Given the description of an element on the screen output the (x, y) to click on. 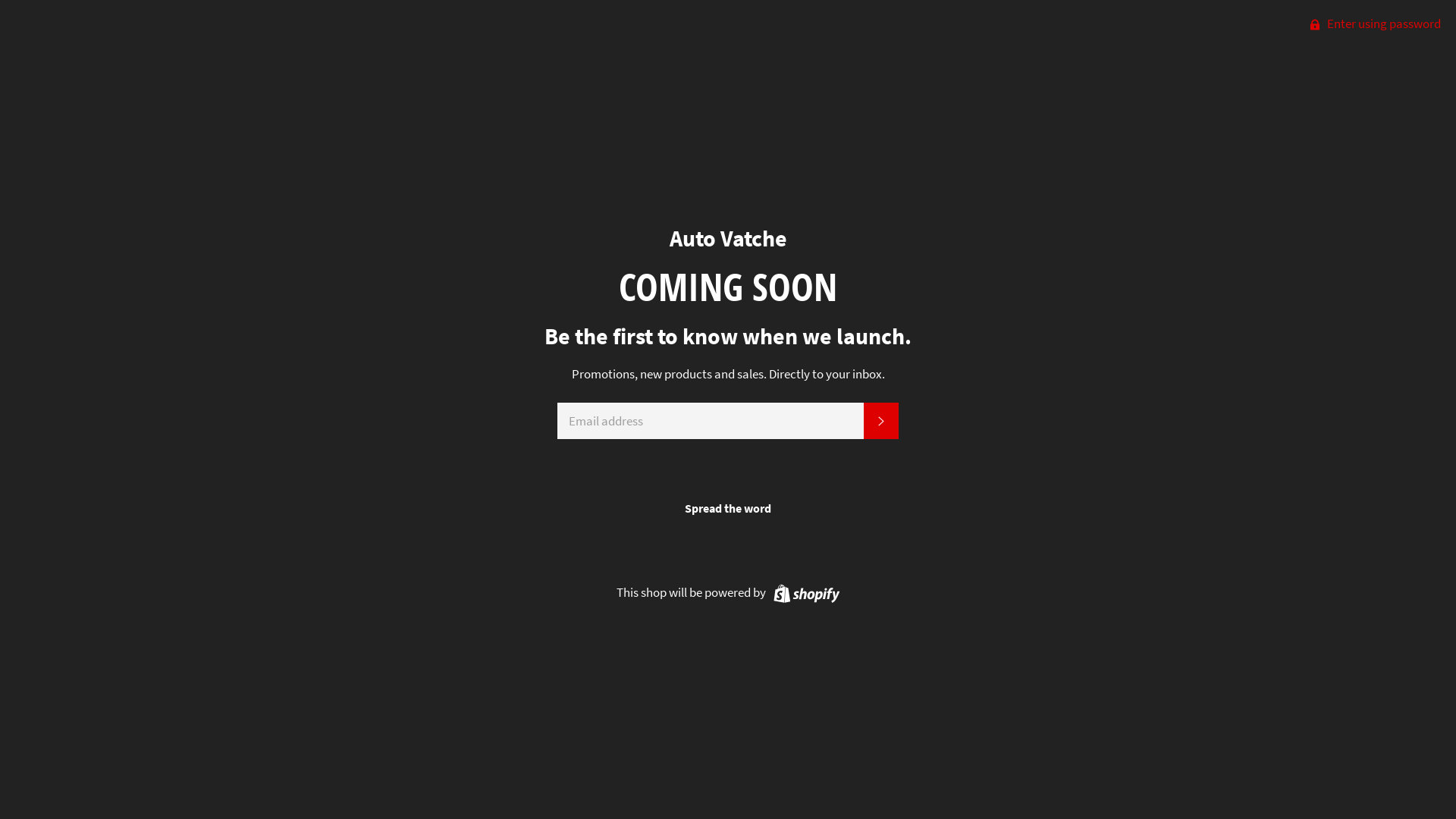
SUBSCRIBE Element type: text (880, 420)
Shopify Element type: text (803, 591)
